Given the description of an element on the screen output the (x, y) to click on. 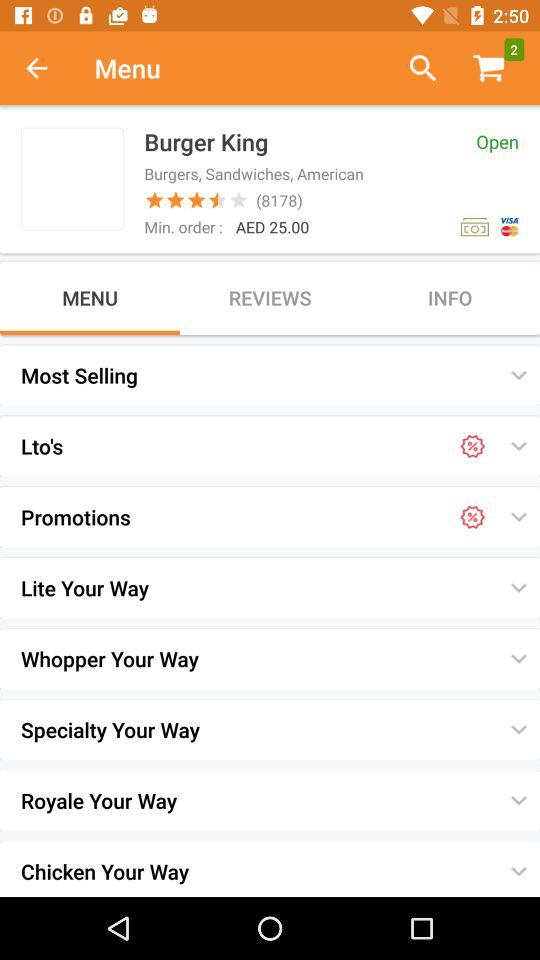
open item next to menu icon (47, 68)
